Given the description of an element on the screen output the (x, y) to click on. 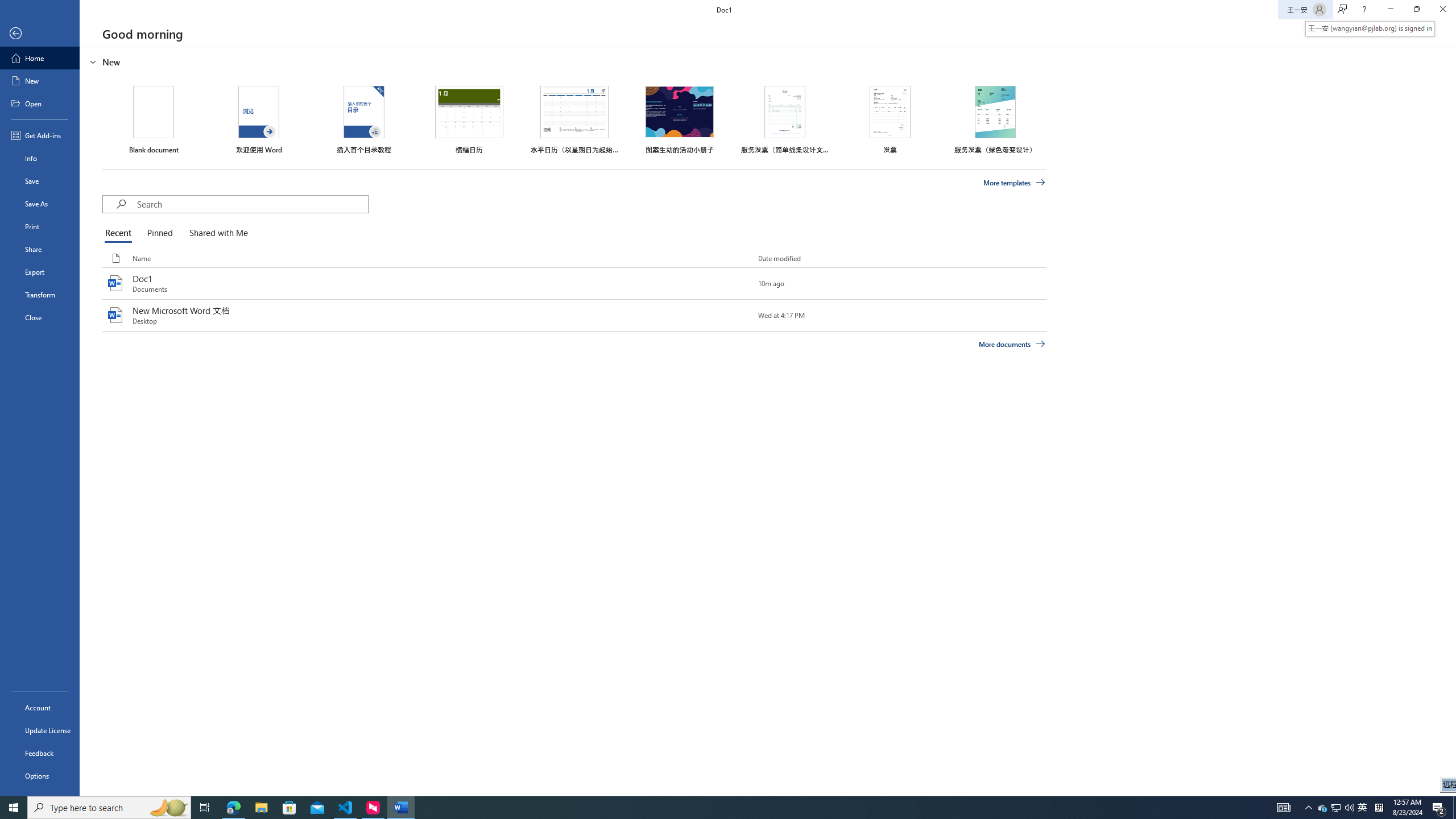
Pin this item to the list (739, 314)
Feedback (40, 753)
More templates (1014, 182)
Transform (40, 294)
Back (40, 33)
Export (40, 271)
Shared with Me (215, 233)
Doc1 (573, 283)
